Given the description of an element on the screen output the (x, y) to click on. 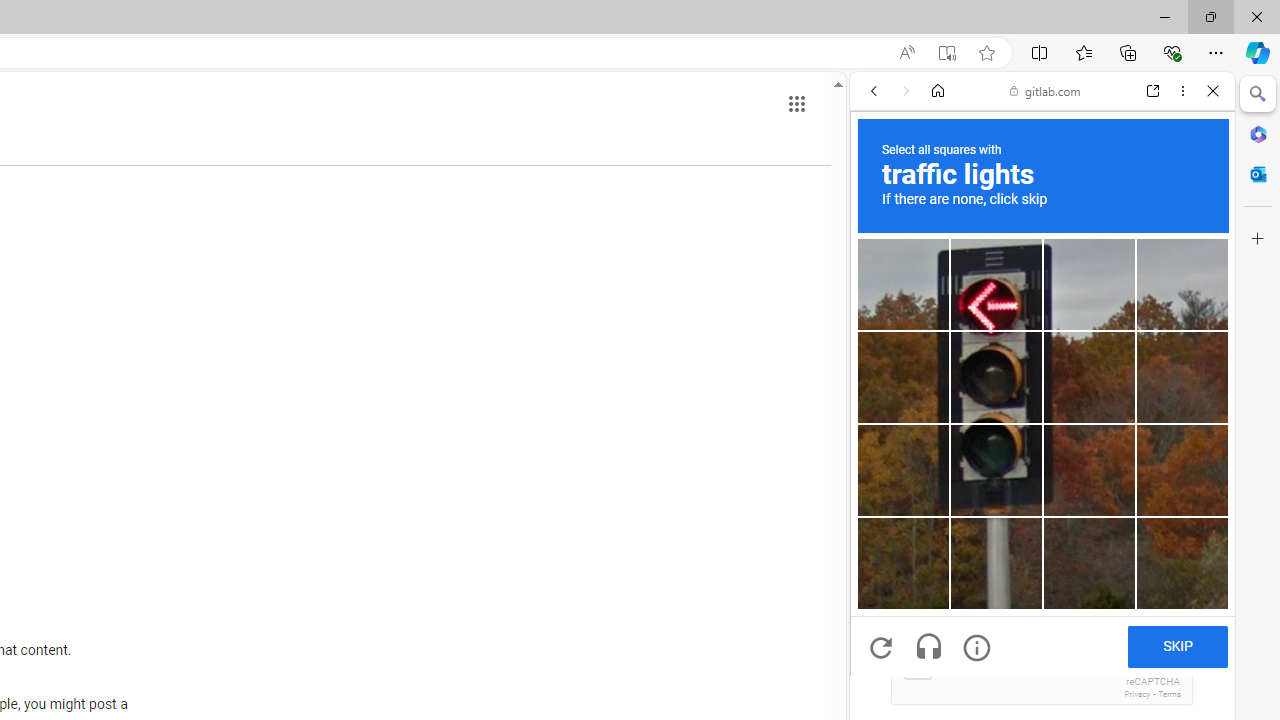
Register Now (1042, 445)
About GitLab (1042, 592)
ALL   (881, 228)
Image challenge (996, 470)
